Given the description of an element on the screen output the (x, y) to click on. 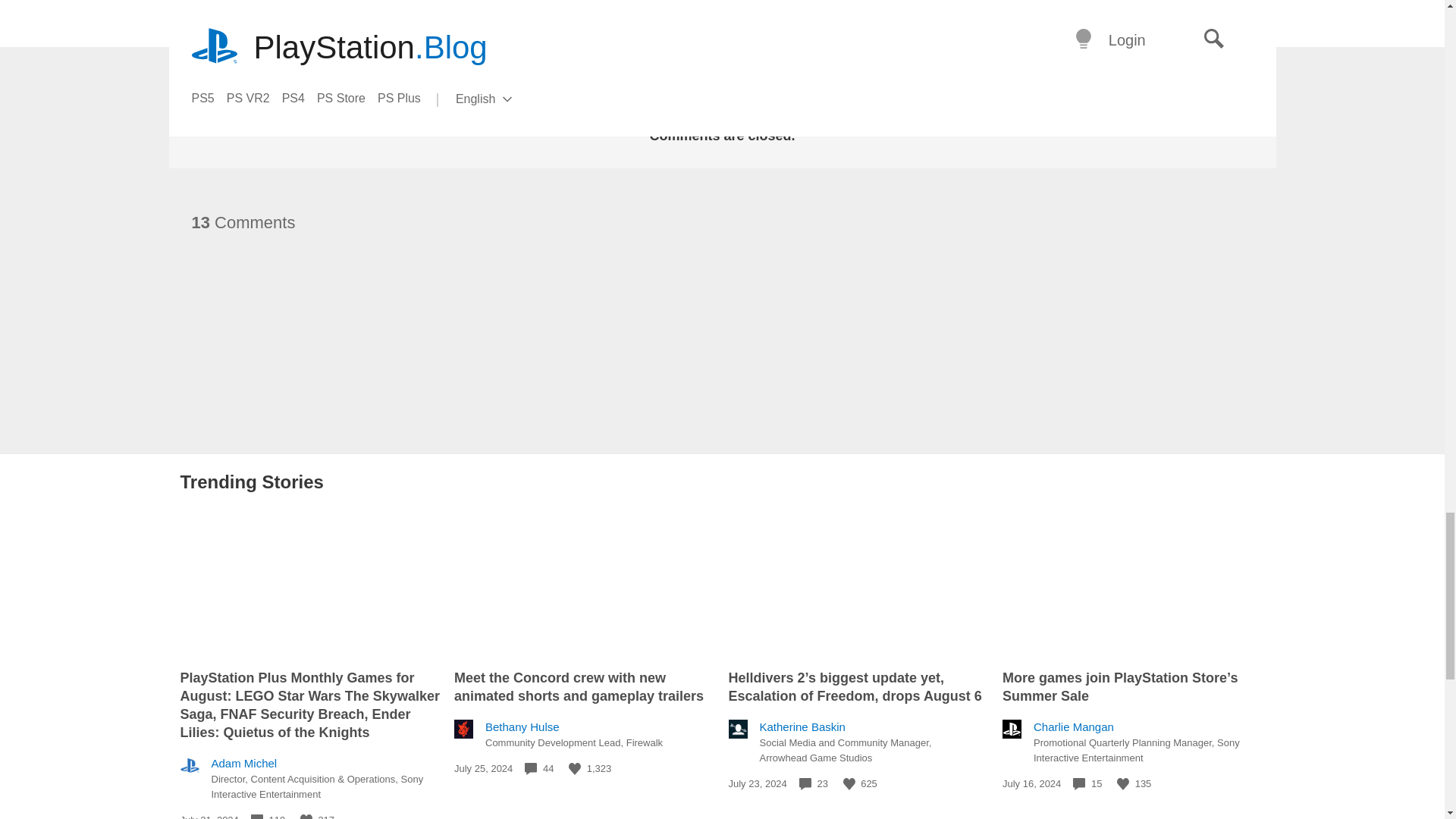
Like this (849, 784)
Like this (574, 768)
Like this (1122, 784)
Like this (306, 816)
